Given the description of an element on the screen output the (x, y) to click on. 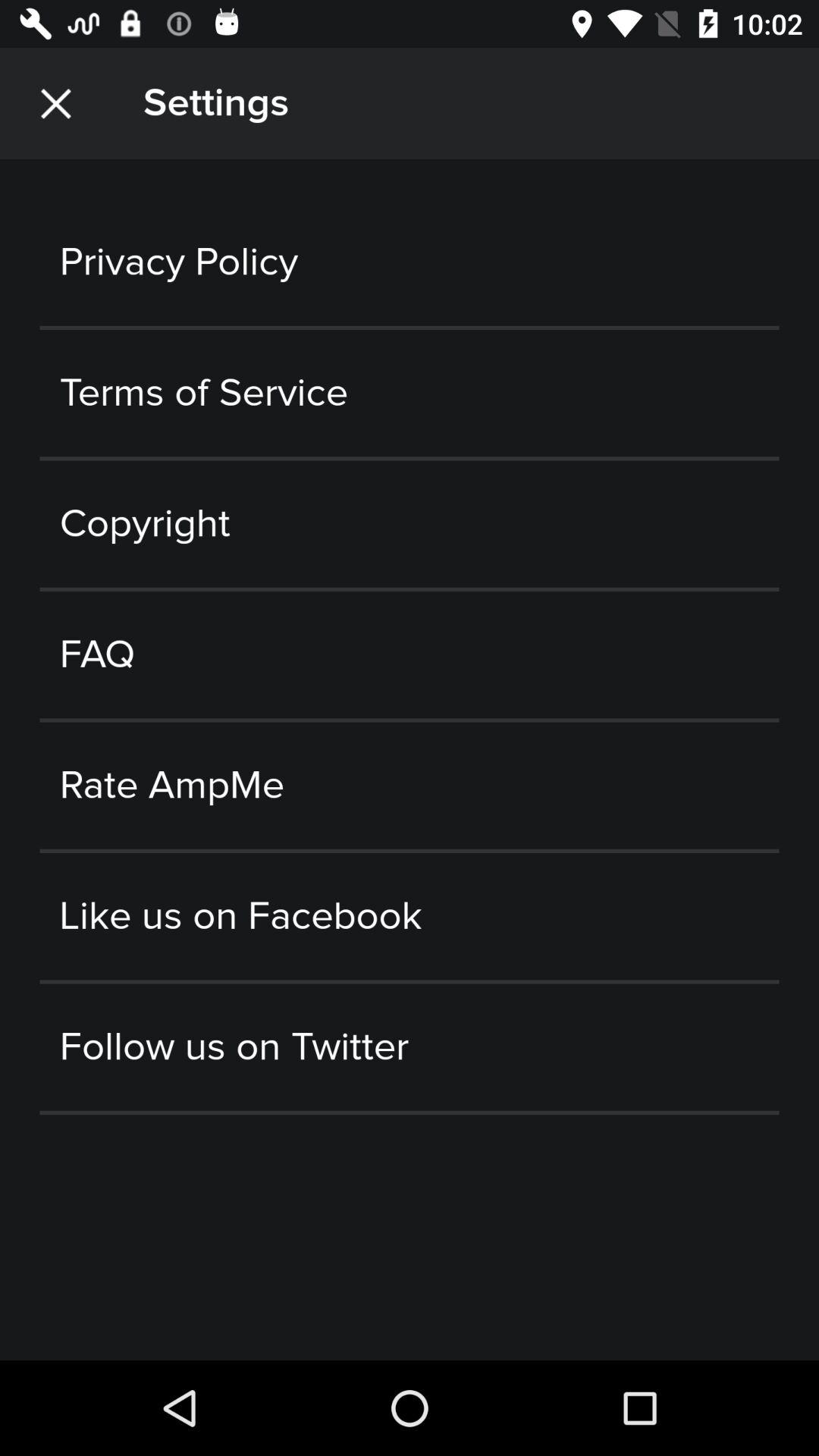
jump until the faq (409, 654)
